Given the description of an element on the screen output the (x, y) to click on. 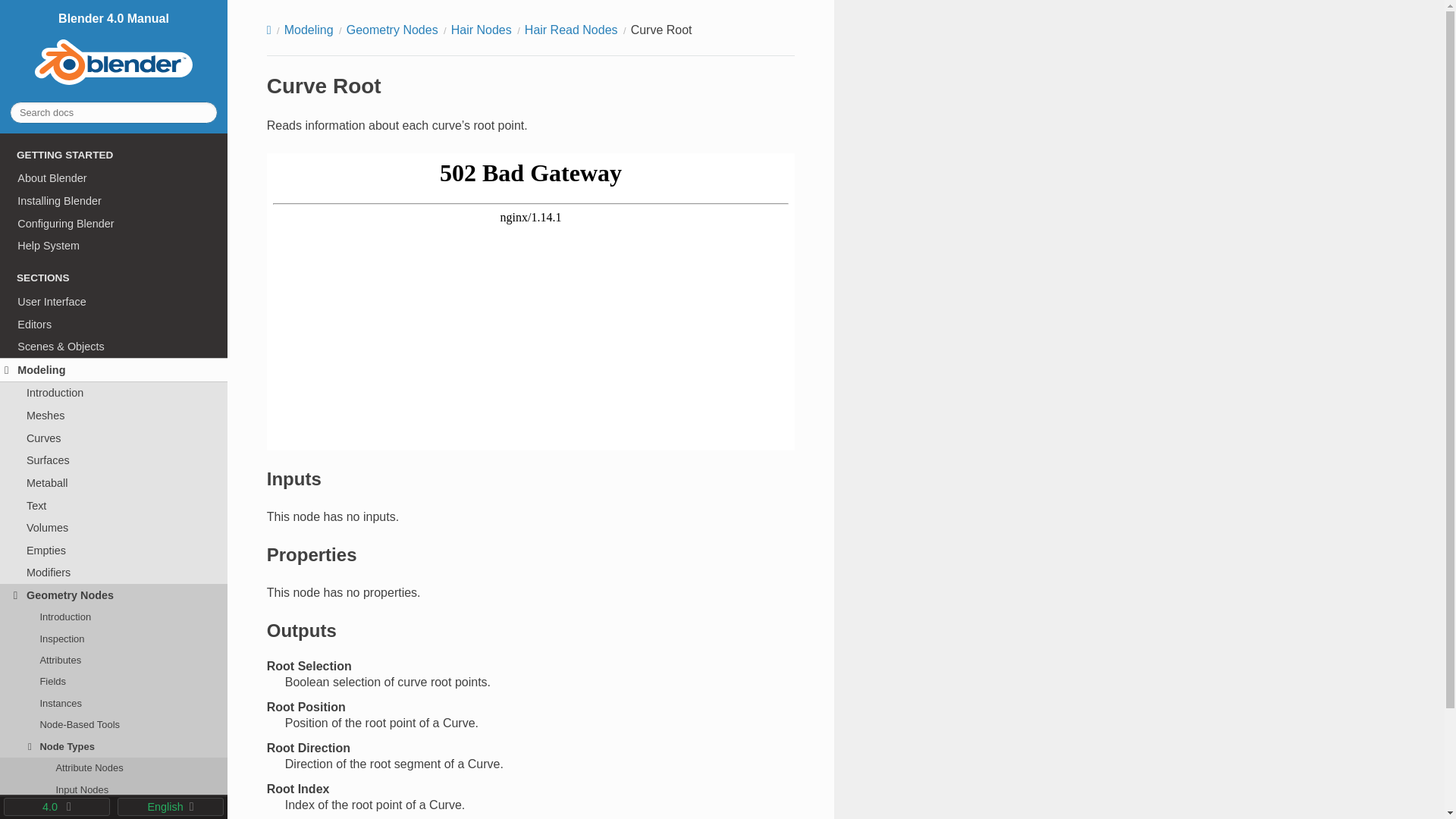
Instances (113, 703)
Meshes (113, 415)
Attribute Nodes (113, 767)
Installing Blender (113, 200)
Introduction (113, 393)
Blender 4.0 Manual (113, 50)
Attributes (113, 660)
Configuring Blender (113, 223)
Text (113, 505)
Surfaces (113, 459)
Introduction (113, 617)
Node-Based Tools (113, 724)
User Interface (113, 301)
About Blender (113, 178)
Help System (113, 245)
